Given the description of an element on the screen output the (x, y) to click on. 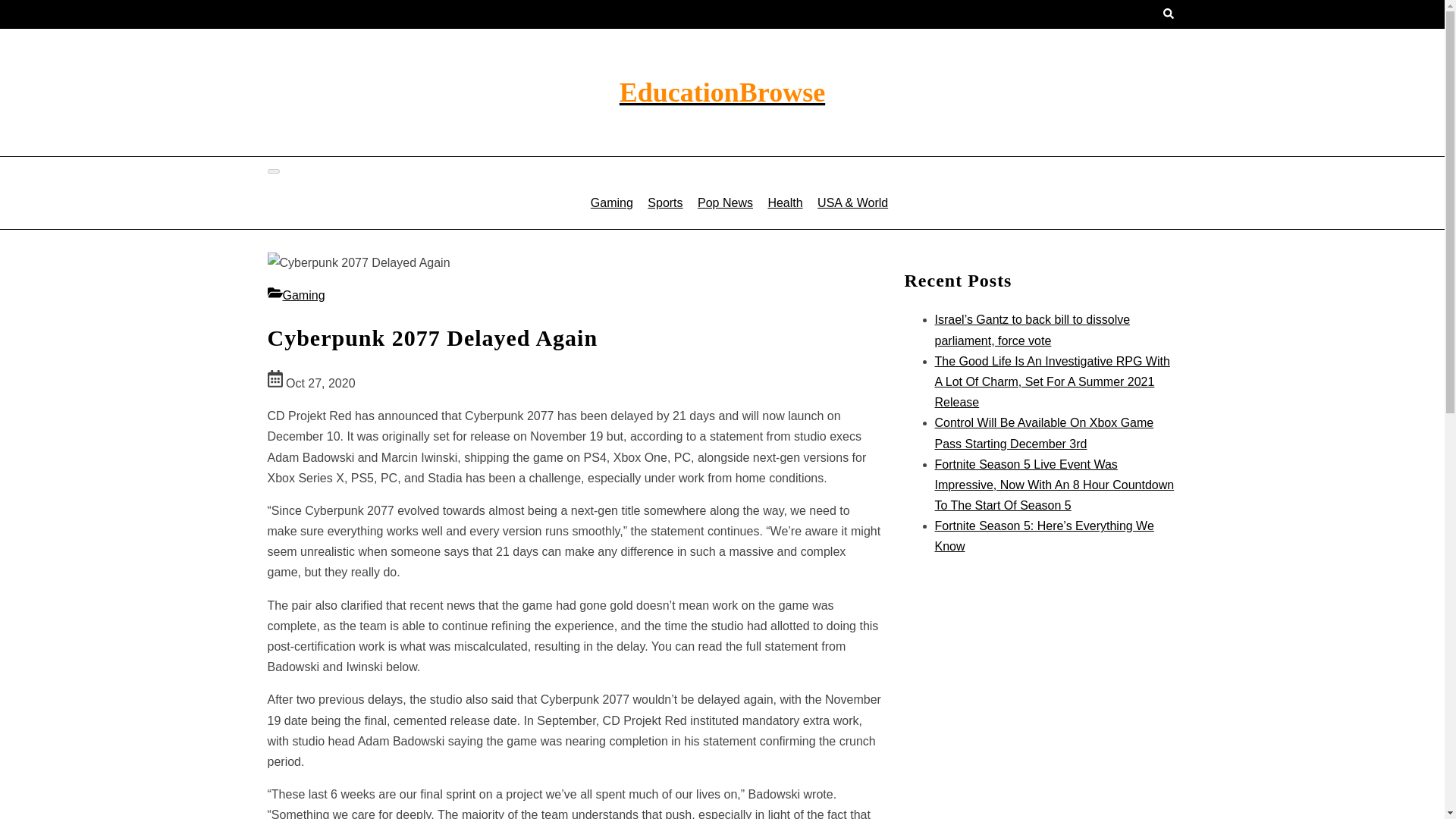
Gaming (295, 295)
EducationBrowse (722, 92)
Sports (664, 202)
Gaming (295, 295)
Pop News (725, 202)
Pop News (725, 202)
Gaming (611, 202)
